Given the description of an element on the screen output the (x, y) to click on. 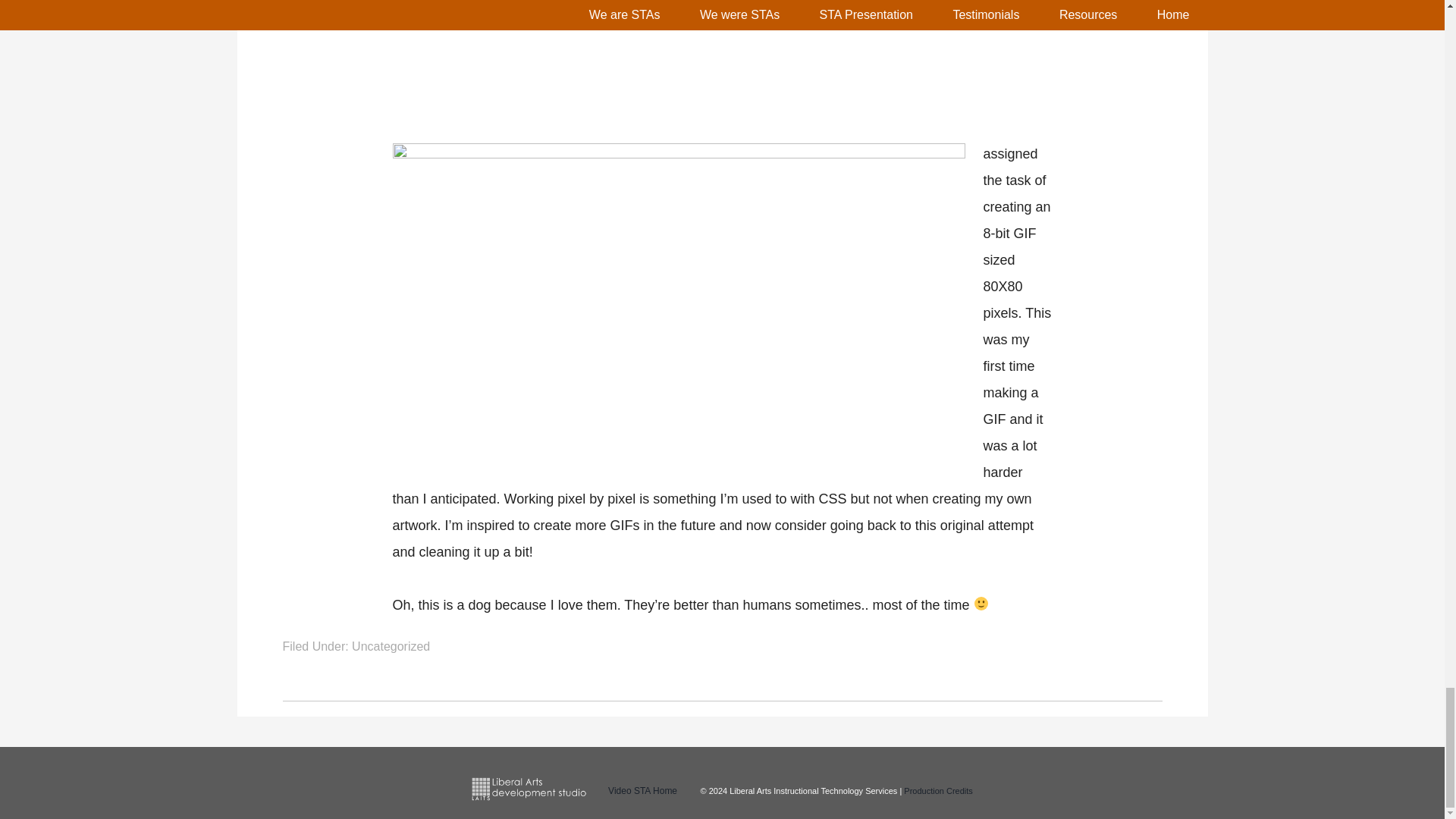
Production Credits (938, 790)
Video STA Home (642, 790)
Uncategorized (390, 645)
